Given the description of an element on the screen output the (x, y) to click on. 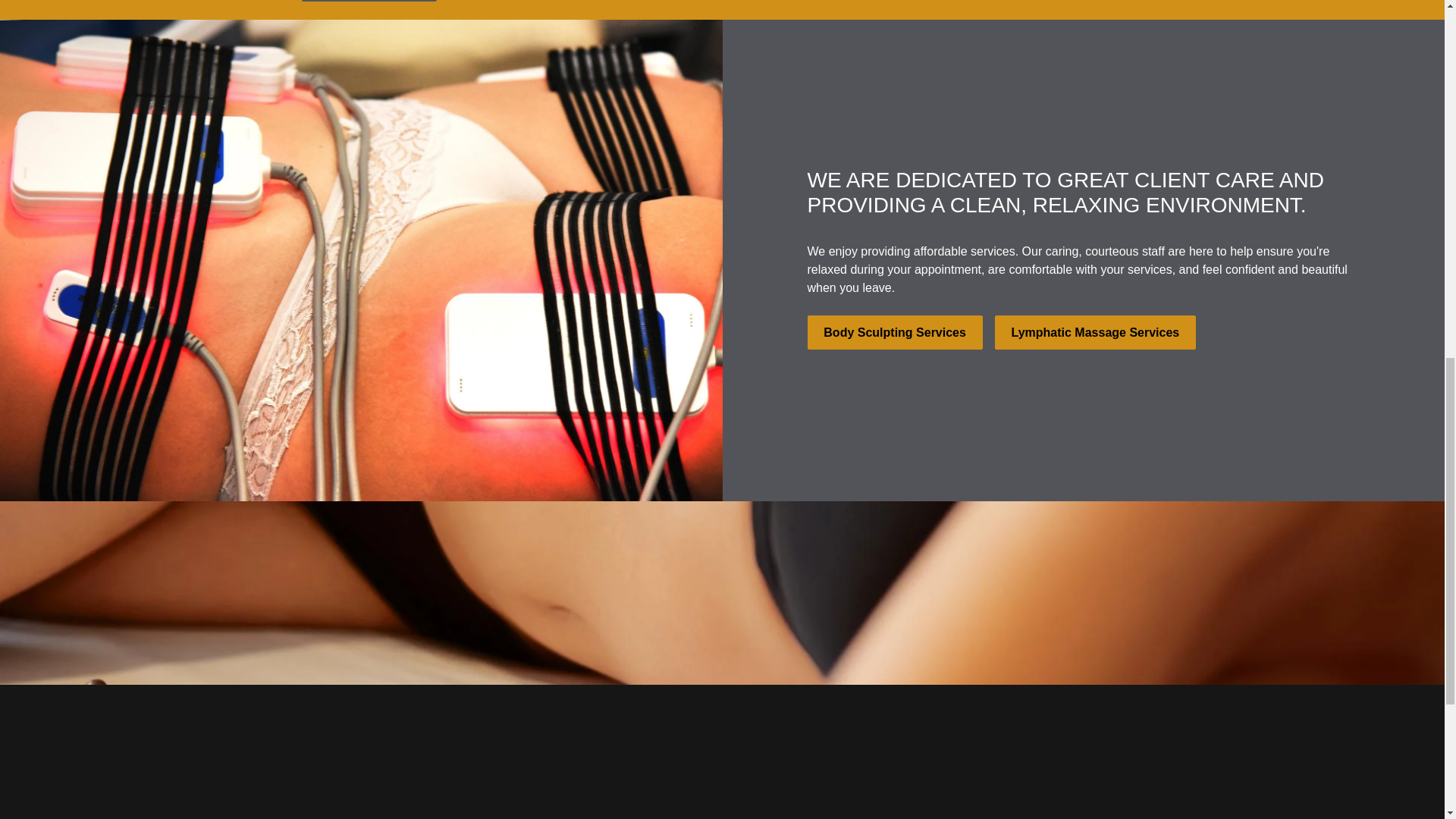
Body Sculpting Services (893, 332)
Lymphatic Massage Services (1094, 332)
